Given the description of an element on the screen output the (x, y) to click on. 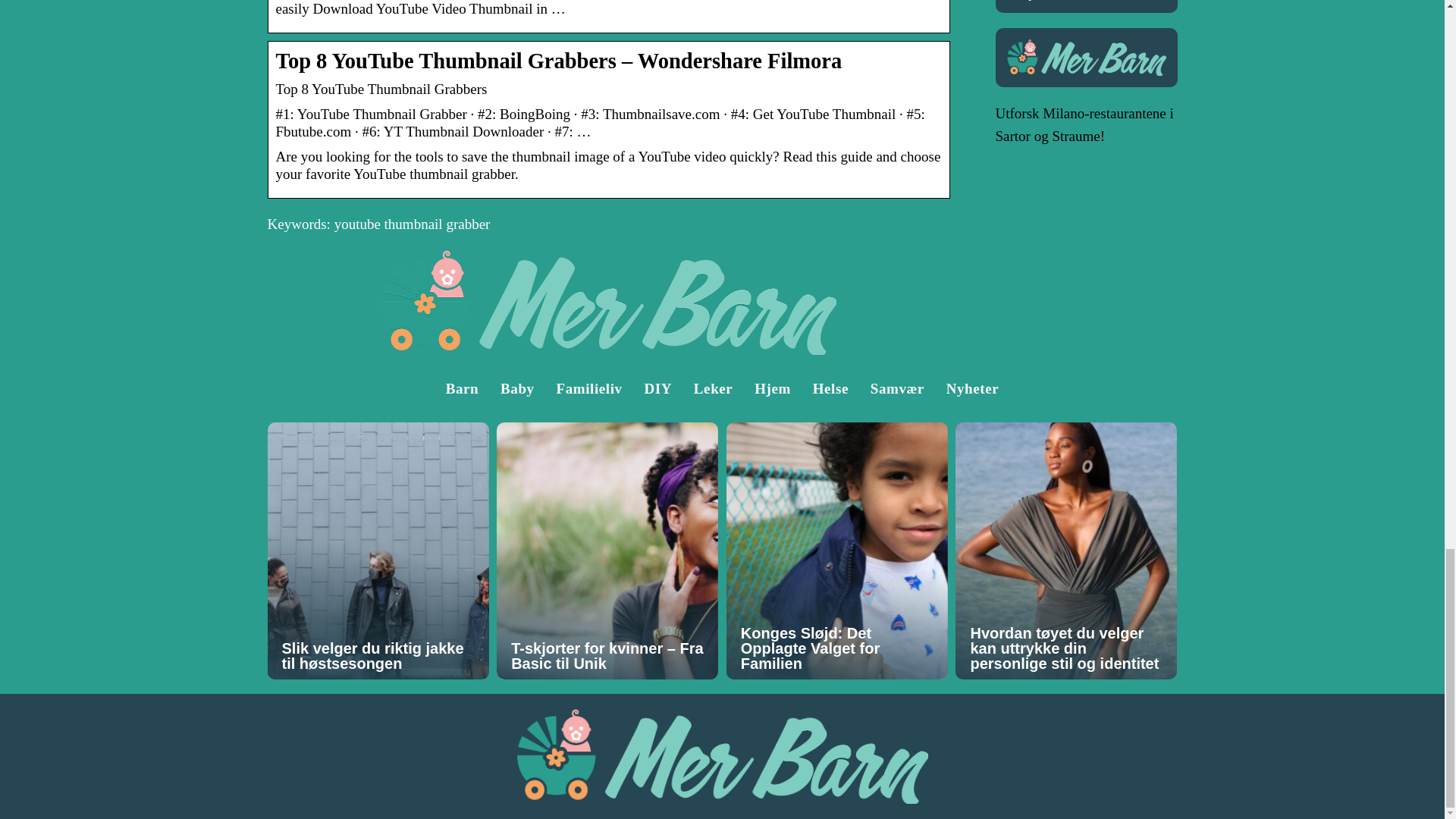
Leker (713, 388)
Barn (462, 388)
Helse (830, 388)
Utforsk Milano-restaurantene i Sartor og Straume! (1083, 124)
Familieliv (588, 388)
Nyheter (1040, 0)
DIY (657, 388)
Hjem (772, 388)
Baby (517, 388)
